Given the description of an element on the screen output the (x, y) to click on. 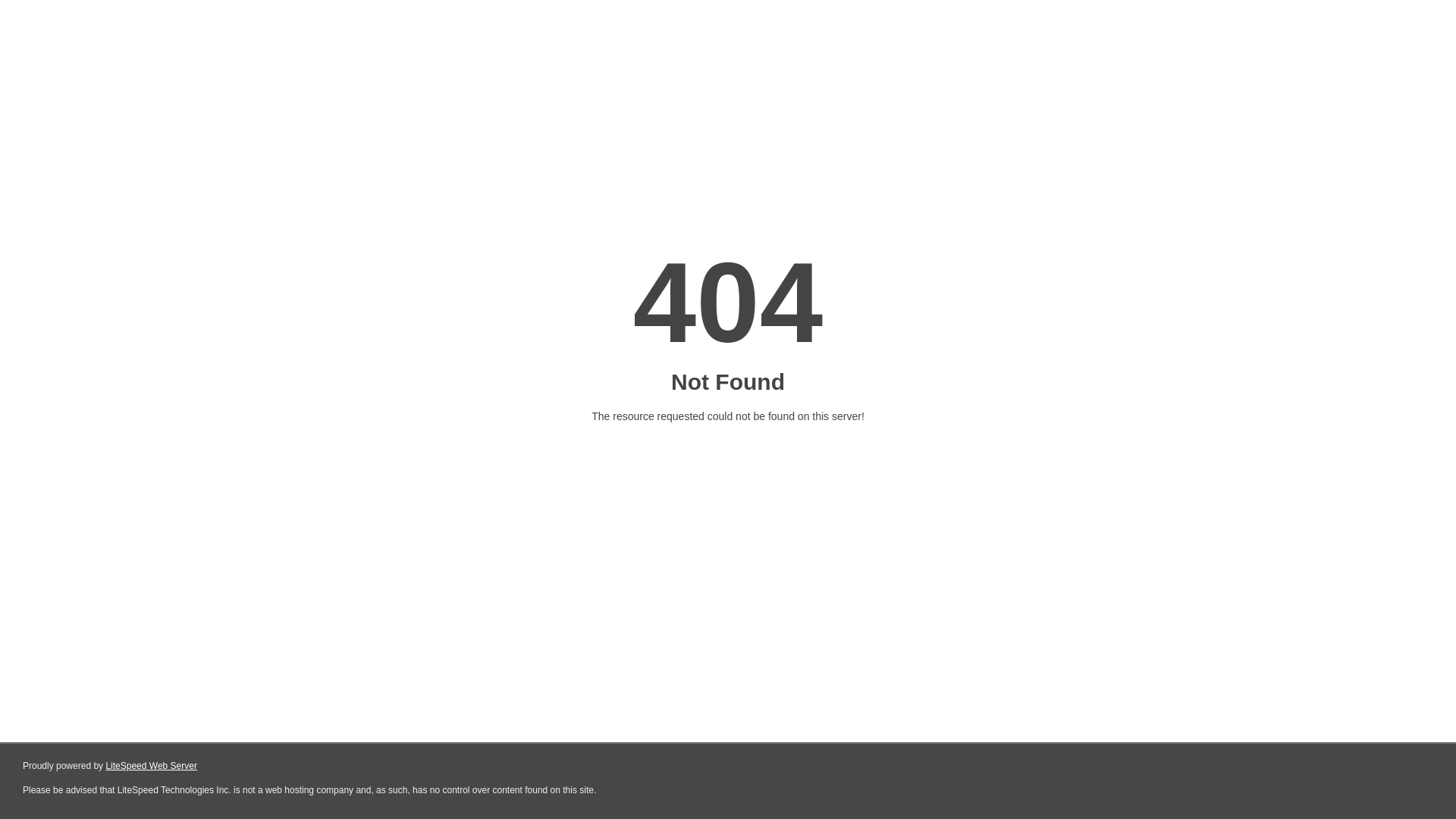
LiteSpeed Web Server Element type: text (151, 765)
